Given the description of an element on the screen output the (x, y) to click on. 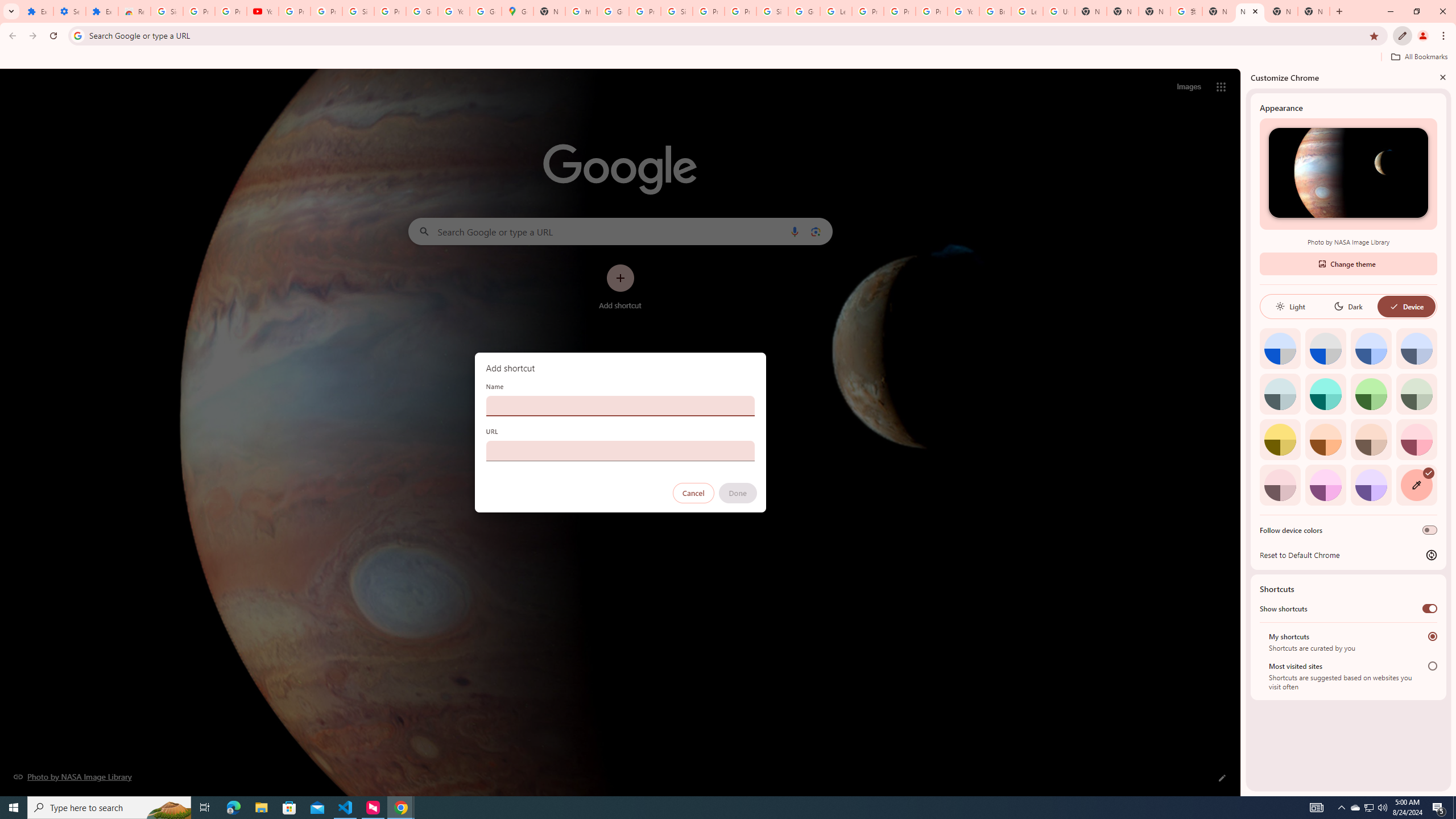
Grey default color (1325, 348)
Privacy Help Center - Policies Help (899, 11)
https://scholar.google.com/ (581, 11)
Sign in - Google Accounts (166, 11)
Most visited sites (1432, 665)
Reviews: Helix Fruit Jump Arcade Game (134, 11)
Google Maps (517, 11)
AutomationID: svg (1428, 472)
Citron (1279, 439)
